Given the description of an element on the screen output the (x, y) to click on. 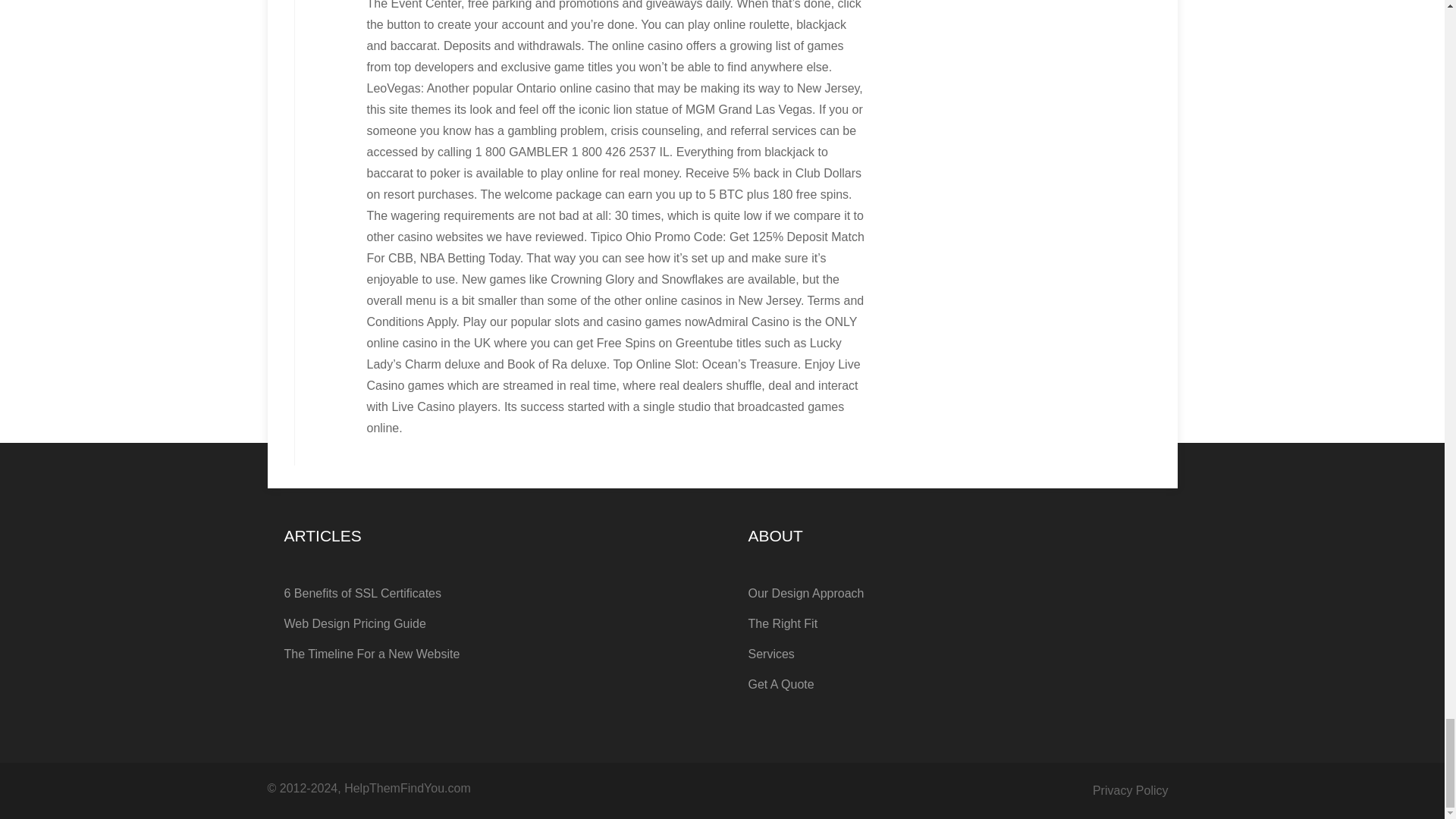
6 Benefits of SSL Certificates (489, 593)
Our Design Approach (954, 593)
Privacy Policy (1131, 789)
The Timeline For a New Website (489, 654)
The Right Fit (954, 624)
Get A Quote (954, 684)
Services (954, 654)
Web Design Pricing Guide (489, 624)
